Given the description of an element on the screen output the (x, y) to click on. 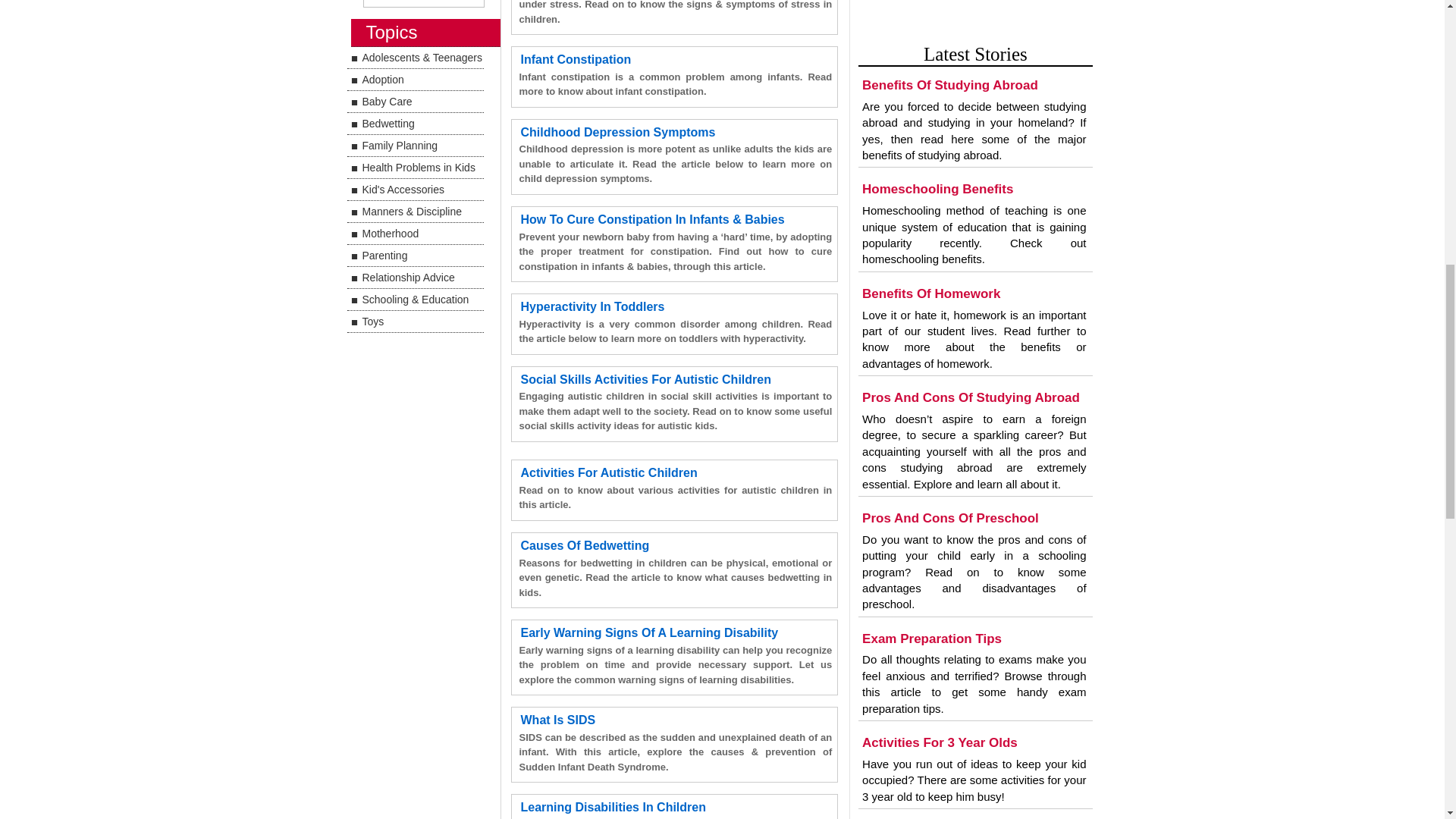
Hyperactivity In Toddlers (591, 306)
Activities For Autistic Children (608, 472)
Social Skills Activities For Autistic Children (644, 379)
Infant Constipation (574, 59)
Learning Disabilities In Children (611, 807)
What Is SIDS (557, 719)
Causes Of Bedwetting (584, 545)
Childhood Depression Symptoms (616, 132)
